Given the description of an element on the screen output the (x, y) to click on. 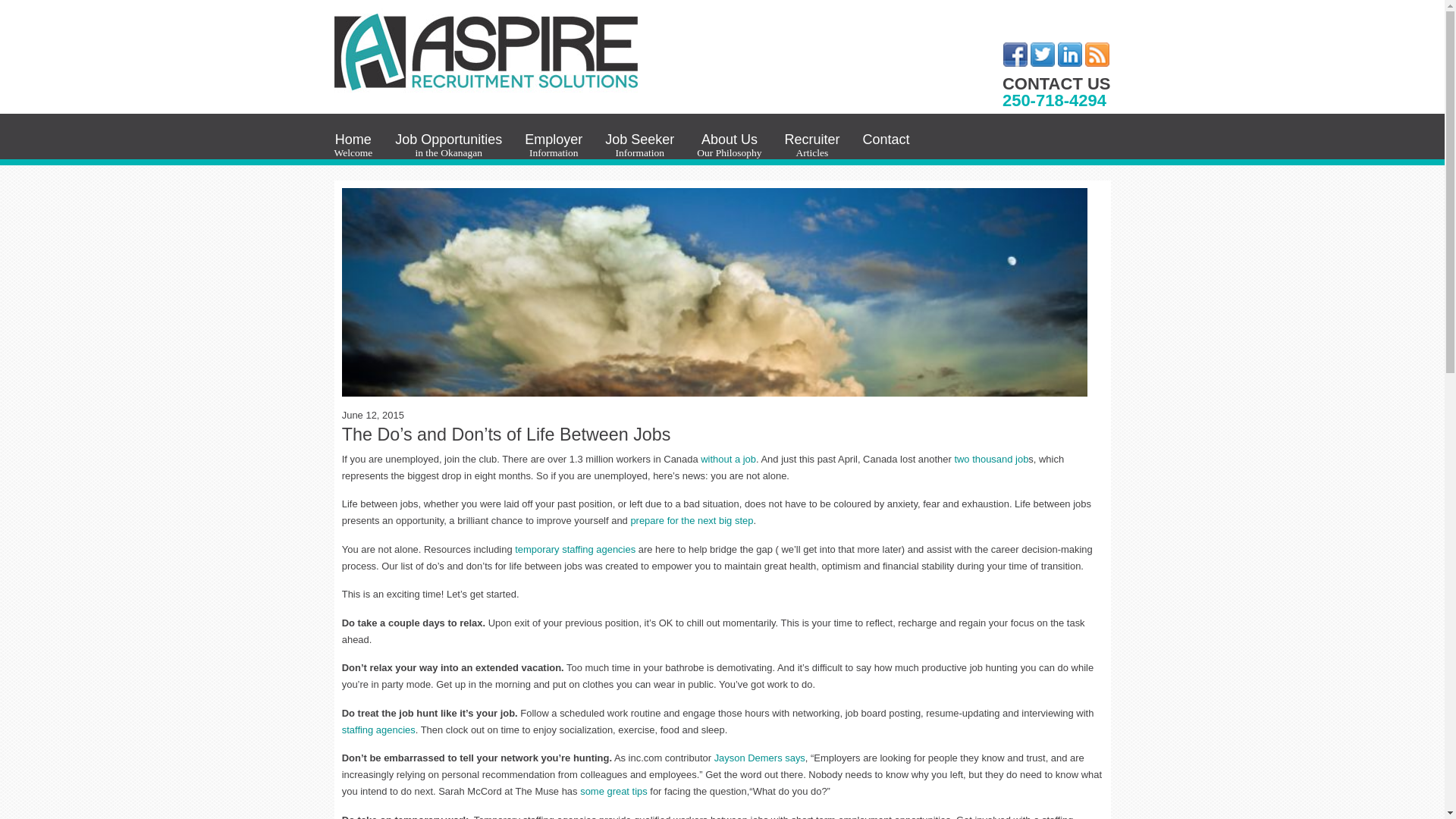
temporary staffing agencies (576, 549)
RSS (1096, 54)
staffing agencies (378, 729)
Jayson Demers says (759, 757)
Facebook (553, 145)
two thousand job (729, 145)
prepare for the next big step (1014, 54)
without a job (448, 145)
Twitter (990, 459)
some great tips (691, 520)
